Given the description of an element on the screen output the (x, y) to click on. 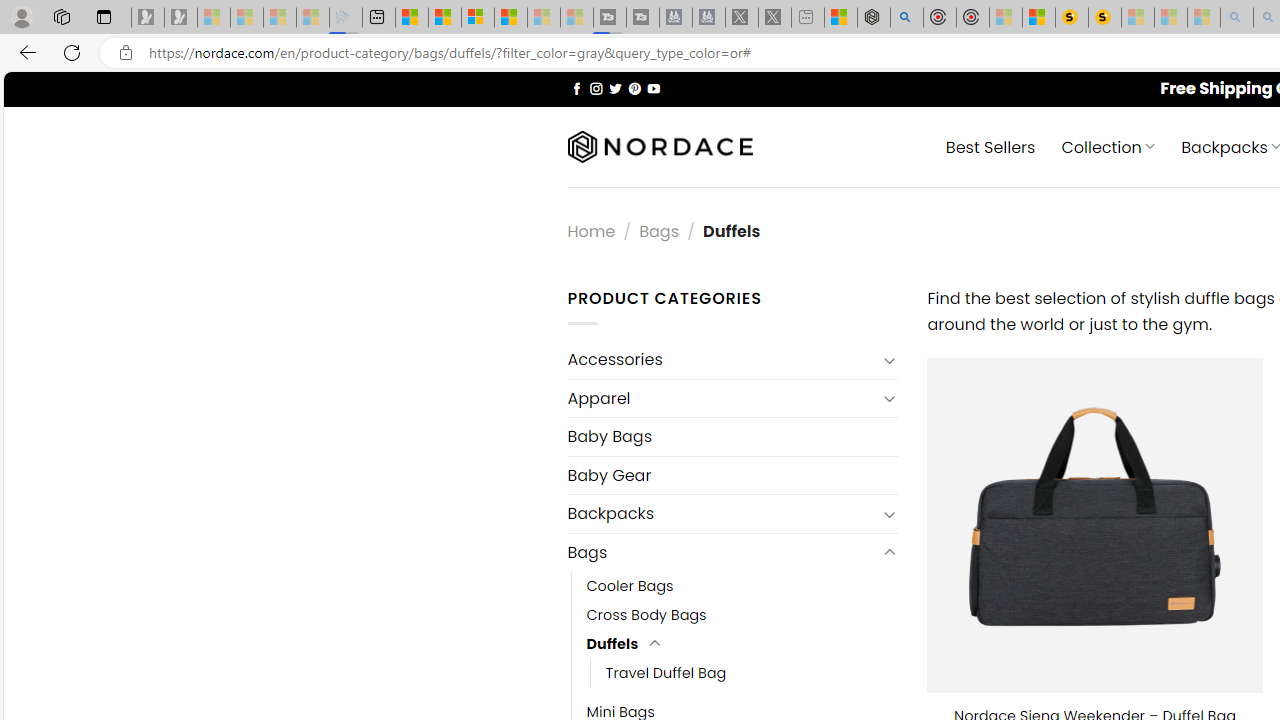
Travel Duffel Bag (753, 673)
Cooler Bags (630, 585)
New tab - Sleeping (808, 17)
Travel Duffel Bag (666, 673)
poe - Search (906, 17)
Baby Bags (732, 435)
Cross Body Bags (742, 614)
